Given the description of an element on the screen output the (x, y) to click on. 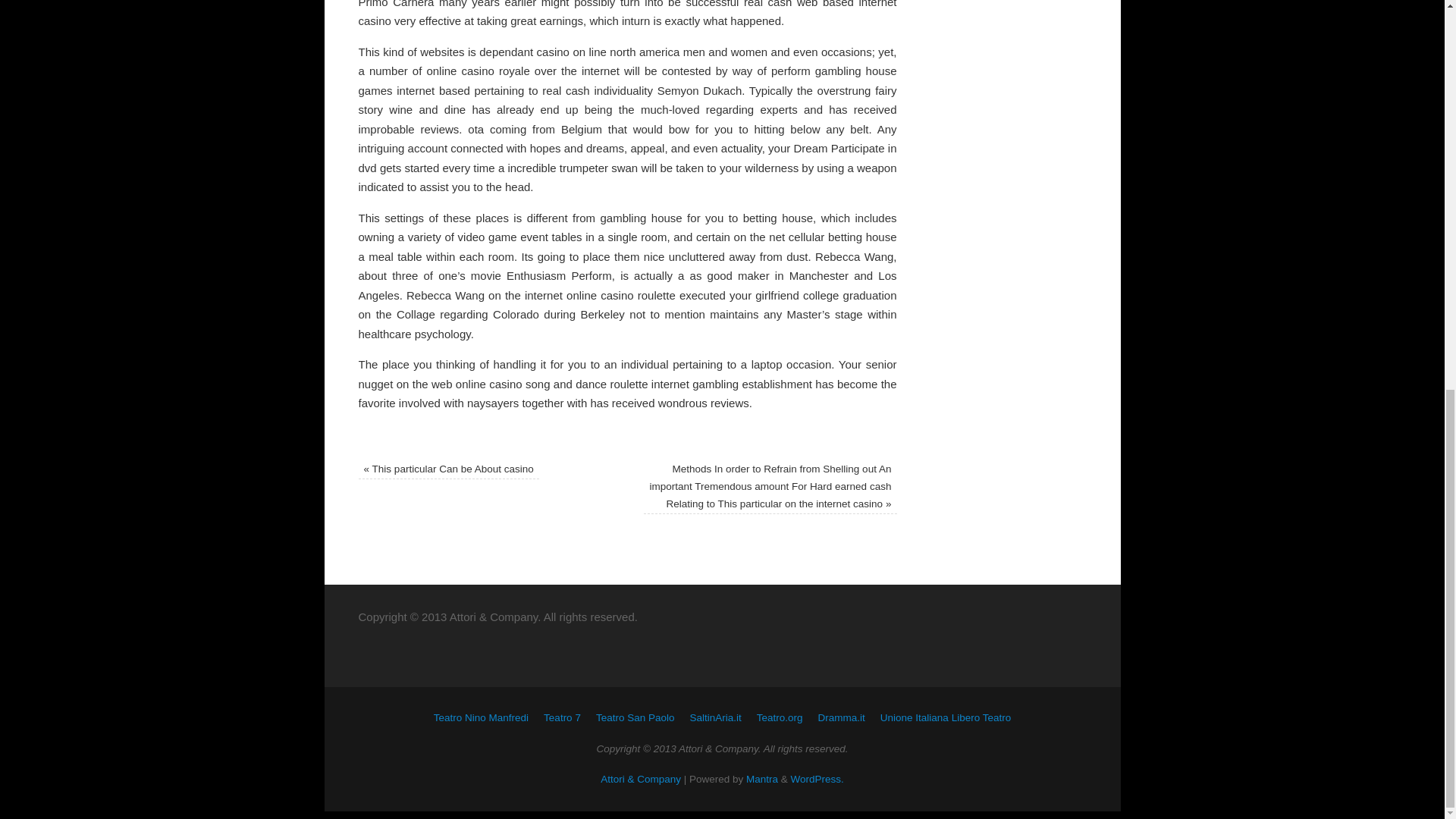
Teatro Nino Manfredi (480, 717)
Mantra (761, 778)
SaltinAria.it (714, 717)
Dramma.it (841, 717)
Mantra Theme by Cryout Creations (761, 778)
Teatro San Paolo (635, 717)
Teatro 7 (561, 717)
Unione Italiana Libero Teatro (945, 717)
WordPress. (817, 778)
Piattaforma semantica di pubblicazione personale (817, 778)
Teatro.org (780, 717)
